Given the description of an element on the screen output the (x, y) to click on. 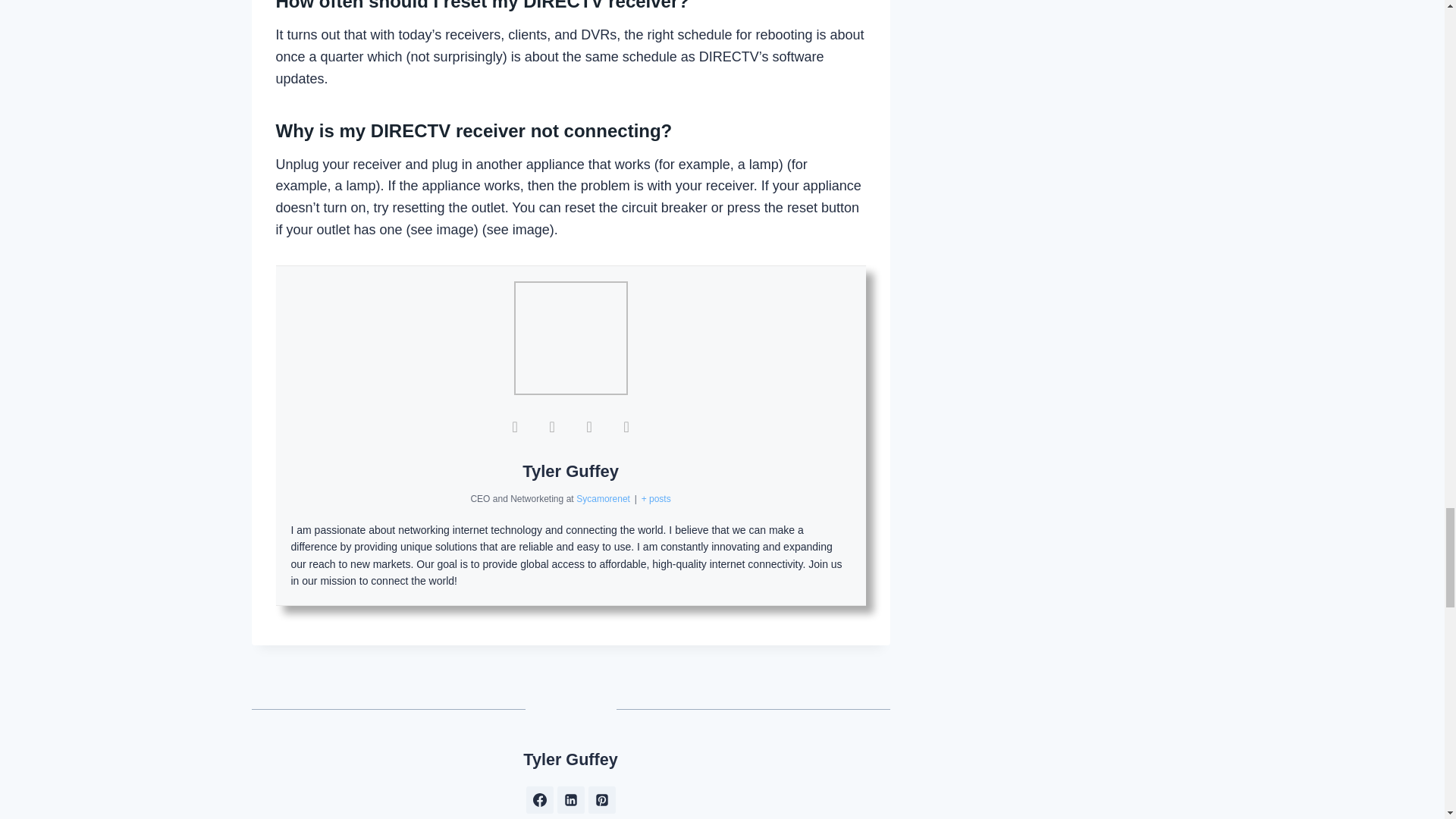
Follow Tyler Guffey on Facebook (539, 800)
Tyler Guffey (570, 470)
Sycamorenet (603, 498)
Follow Tyler Guffey on Linkedin (571, 800)
Follow Tyler Guffey on Pinterest (601, 800)
